Given the description of an element on the screen output the (x, y) to click on. 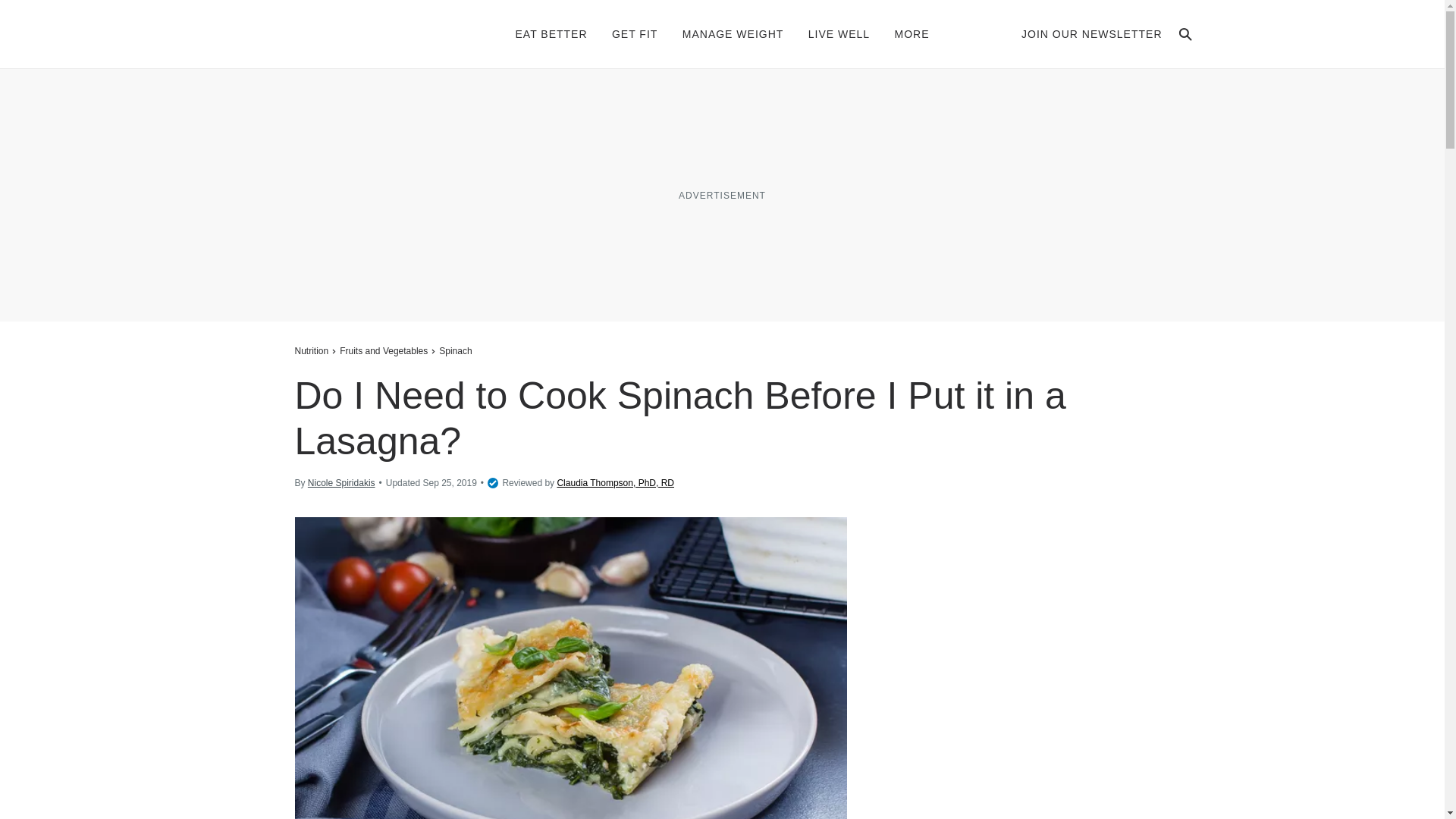
JOIN OUR NEWSLETTER (1091, 33)
Spinach (455, 350)
GET FIT (634, 33)
Claudia Thompson, PhD, RD (615, 482)
Nicole Spiridakis (341, 482)
LIVE WELL (838, 33)
Fruits and Vegetables (383, 350)
EAT BETTER (551, 33)
Nutrition (312, 350)
MANAGE WEIGHT (733, 33)
